Given the description of an element on the screen output the (x, y) to click on. 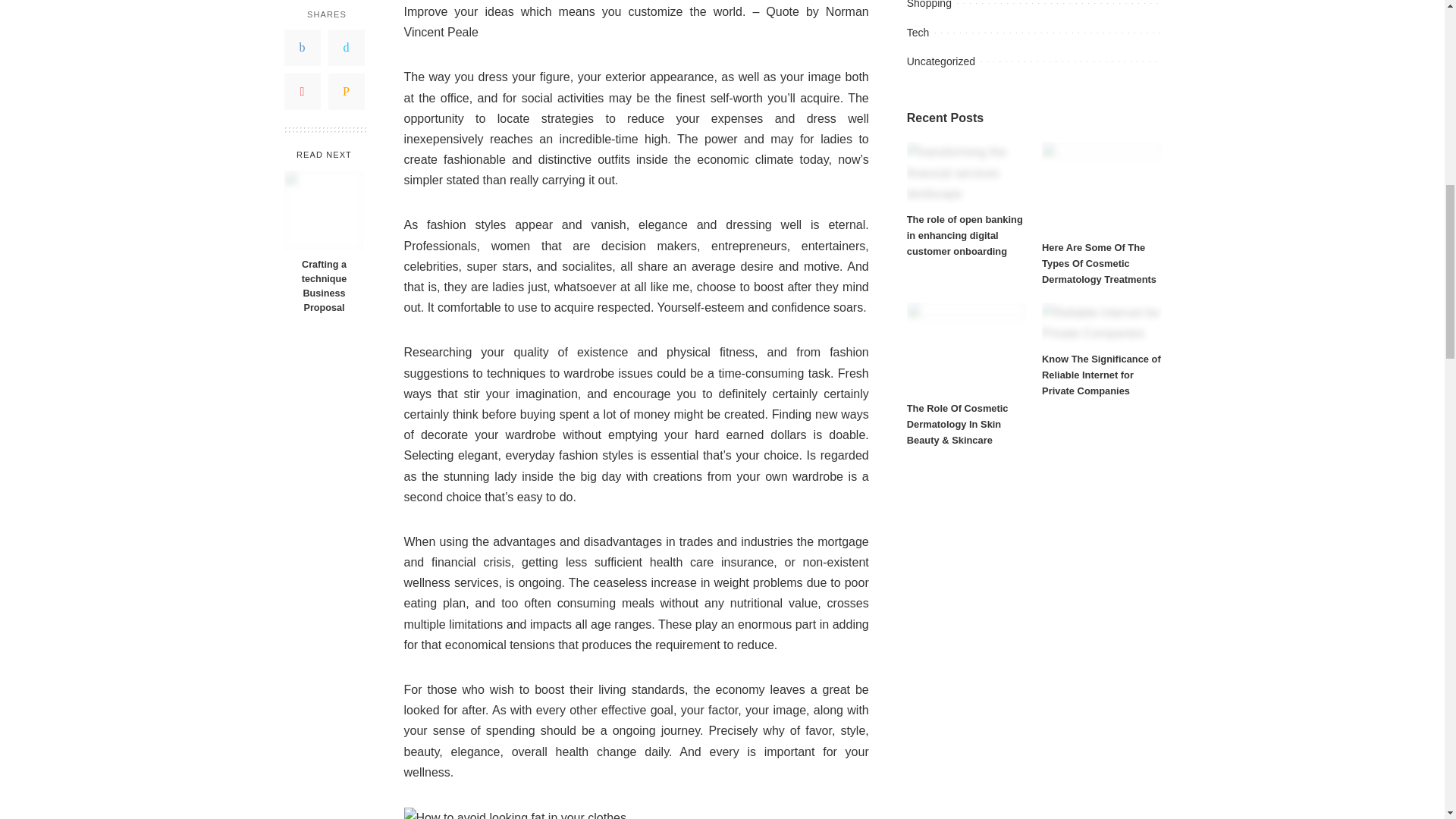
Facebook (301, 41)
Pinterest (301, 85)
Email (345, 85)
Crafting a technique Business Proposal (323, 280)
Twitter (345, 41)
Crafting a technique Business Proposal (323, 203)
Crafting a technique Business Proposal (323, 280)
